Given the description of an element on the screen output the (x, y) to click on. 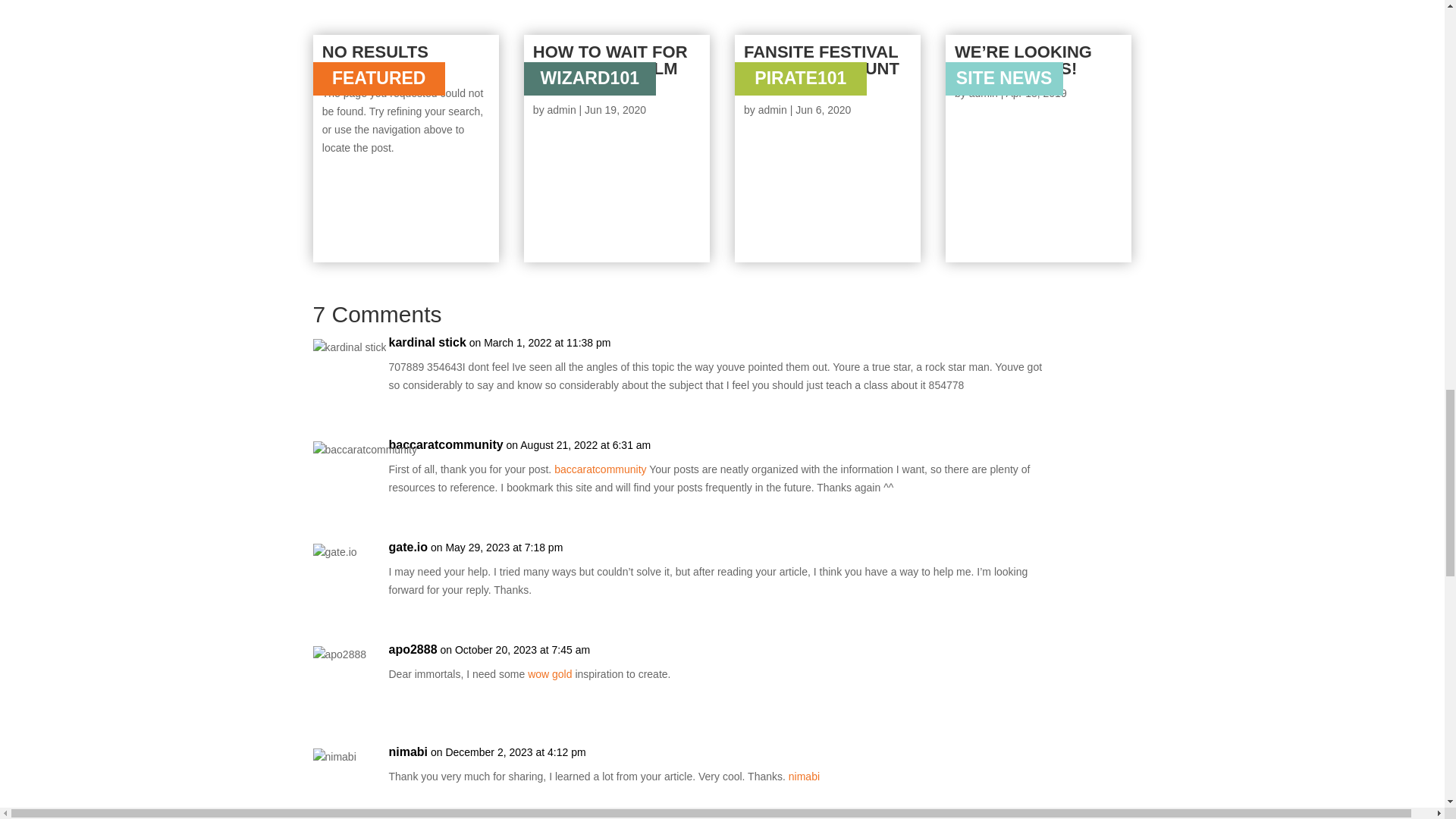
Posts by admin (772, 110)
Posts by admin (561, 110)
Posts by admin (983, 92)
